Given the description of an element on the screen output the (x, y) to click on. 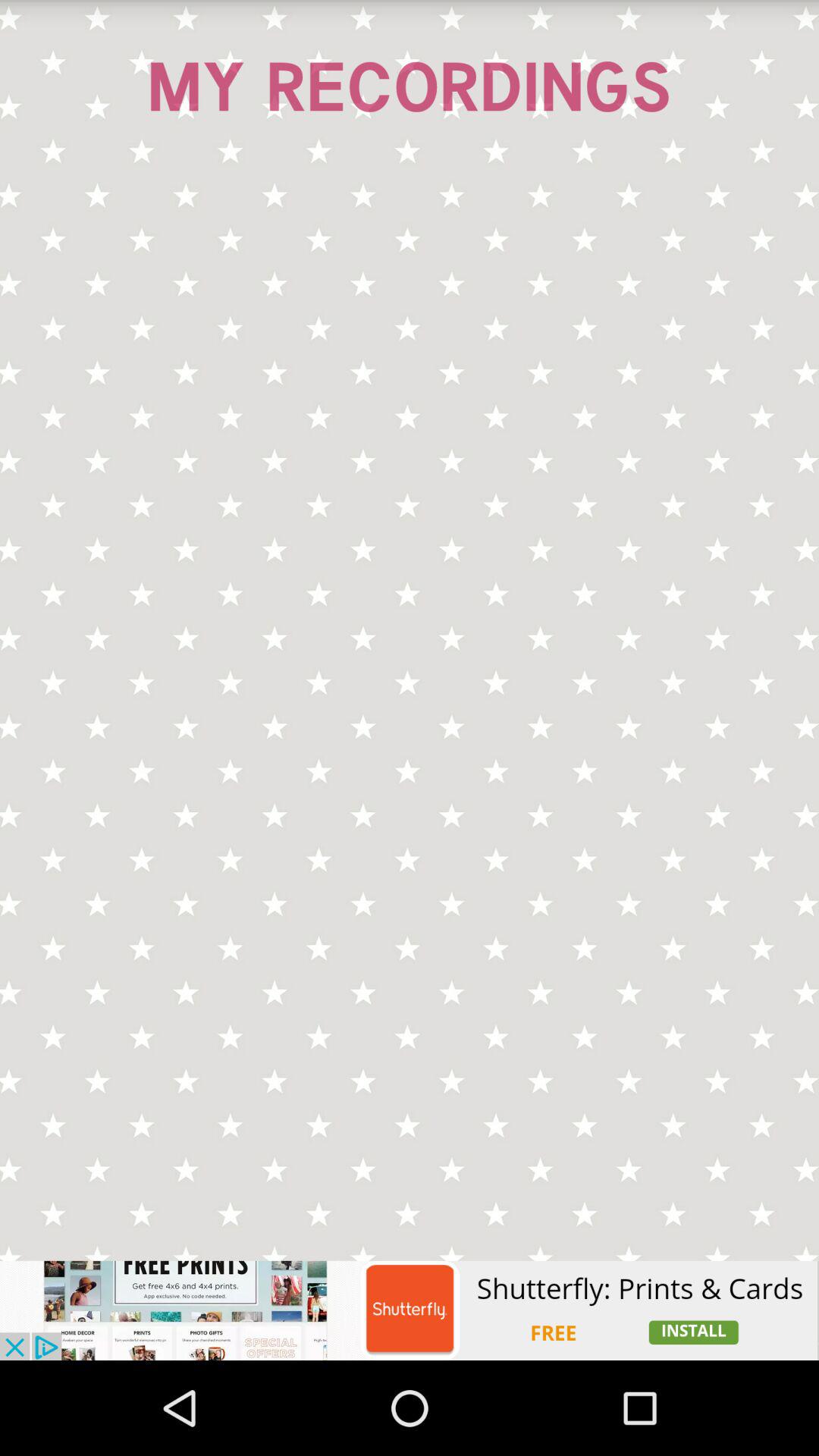
banner advertisement for shutterfly (409, 1310)
